Given the description of an element on the screen output the (x, y) to click on. 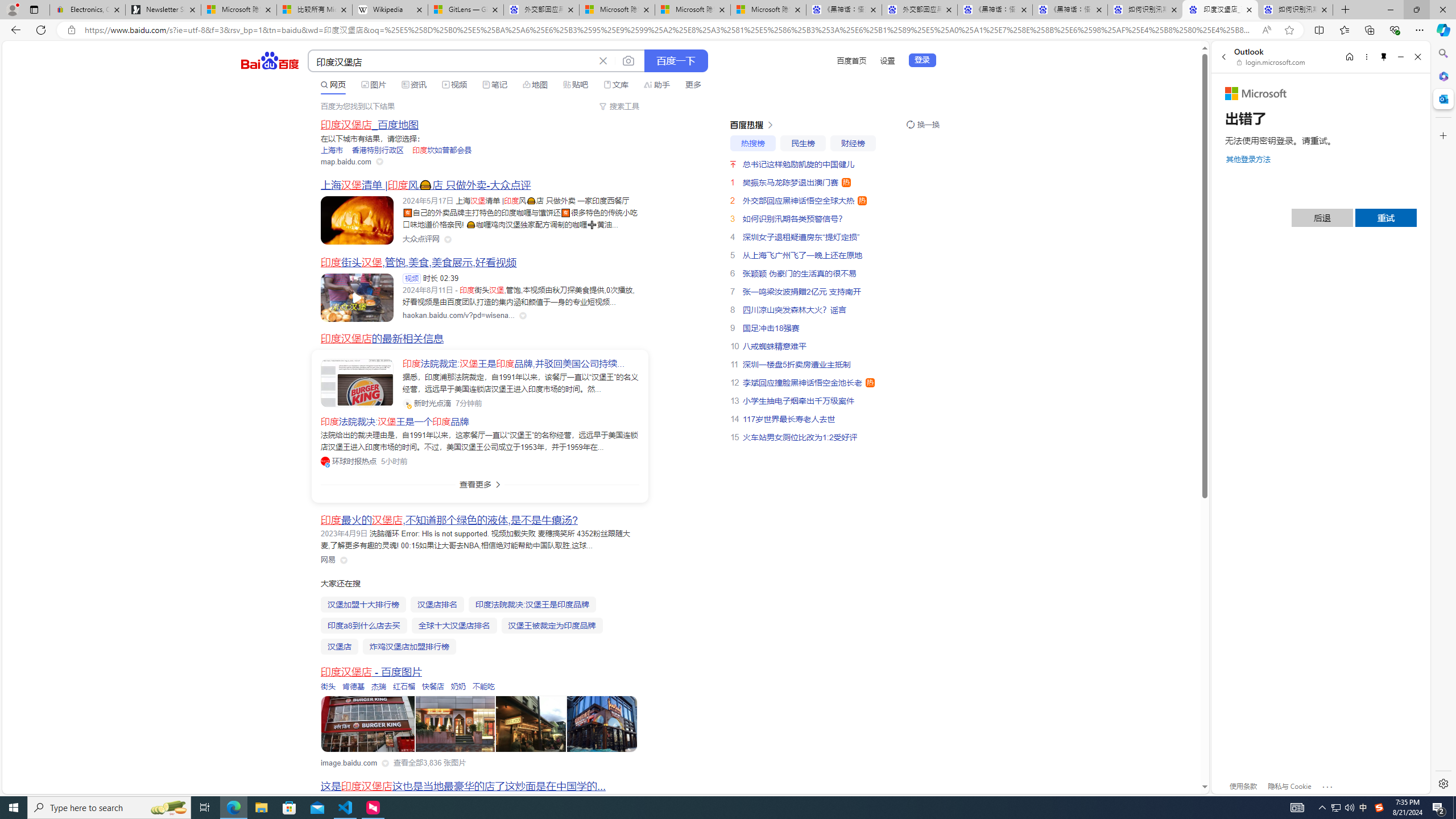
Class: siteLink_9TPP3 (327, 560)
Newsletter Sign Up (162, 9)
